Given the description of an element on the screen output the (x, y) to click on. 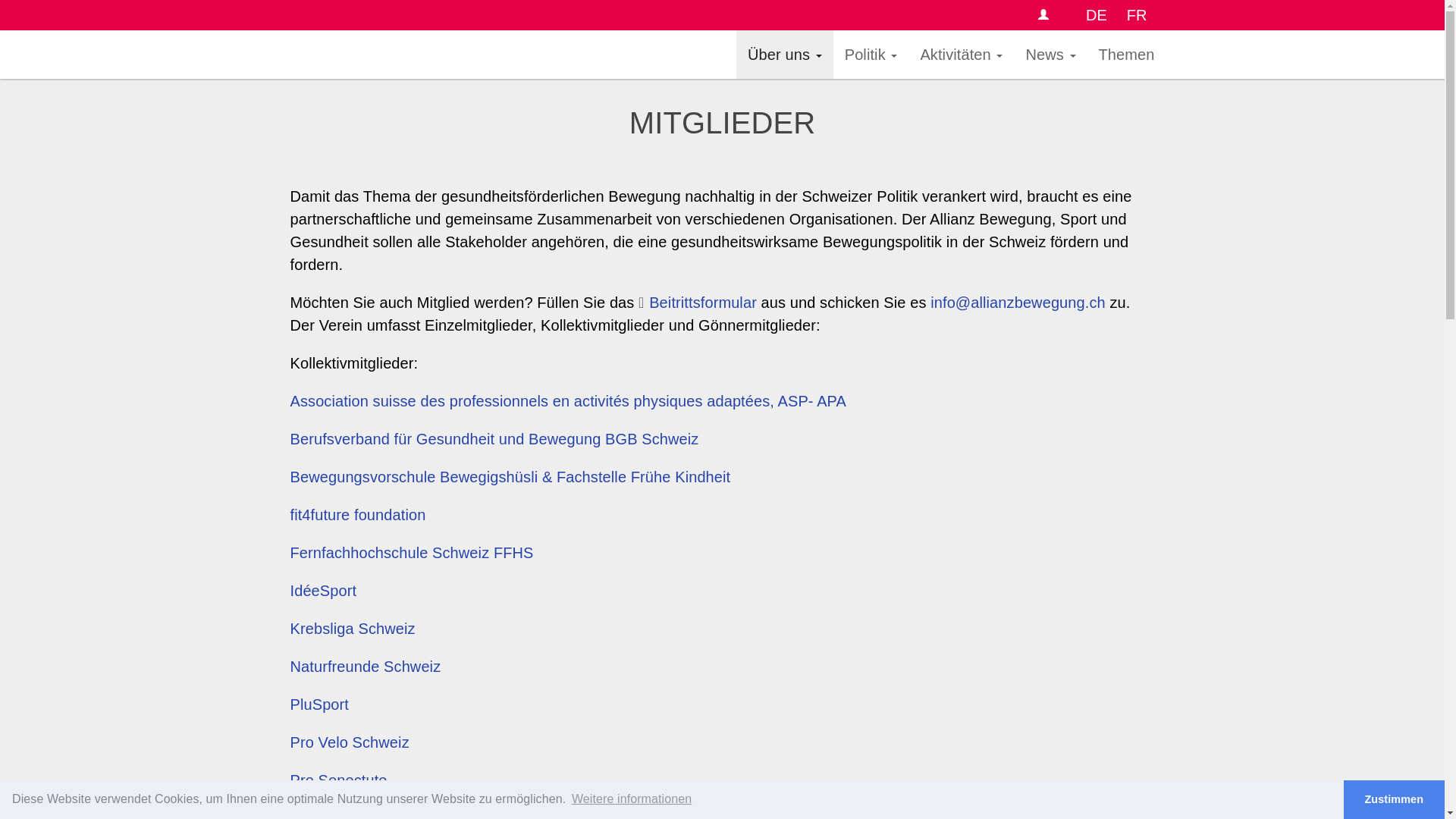
News Element type: text (1049, 54)
info@allianzbewegung.ch Element type: text (1017, 302)
CONTACT Element type: text (1044, 14)
Fernfachhochschule Schweiz FFHS Element type: text (411, 552)
Beitrittsformular Element type: text (697, 302)
Pro Velo Schweiz Element type: text (348, 742)
Naturfreunde Schweiz Element type: text (364, 666)
Krebsliga Schweiz Element type: text (351, 628)
PluSport Element type: text (318, 704)
Themen Element type: text (1126, 54)
Weitere informationen Element type: text (631, 798)
ALLIANZ BEWEGUNG, SPORT UND GESUNDHEIT (DE) Element type: text (506, 54)
Politik Element type: text (871, 54)
Pro Senectute Element type: text (337, 779)
fit4future foundation Element type: text (357, 514)
